Given the description of an element on the screen output the (x, y) to click on. 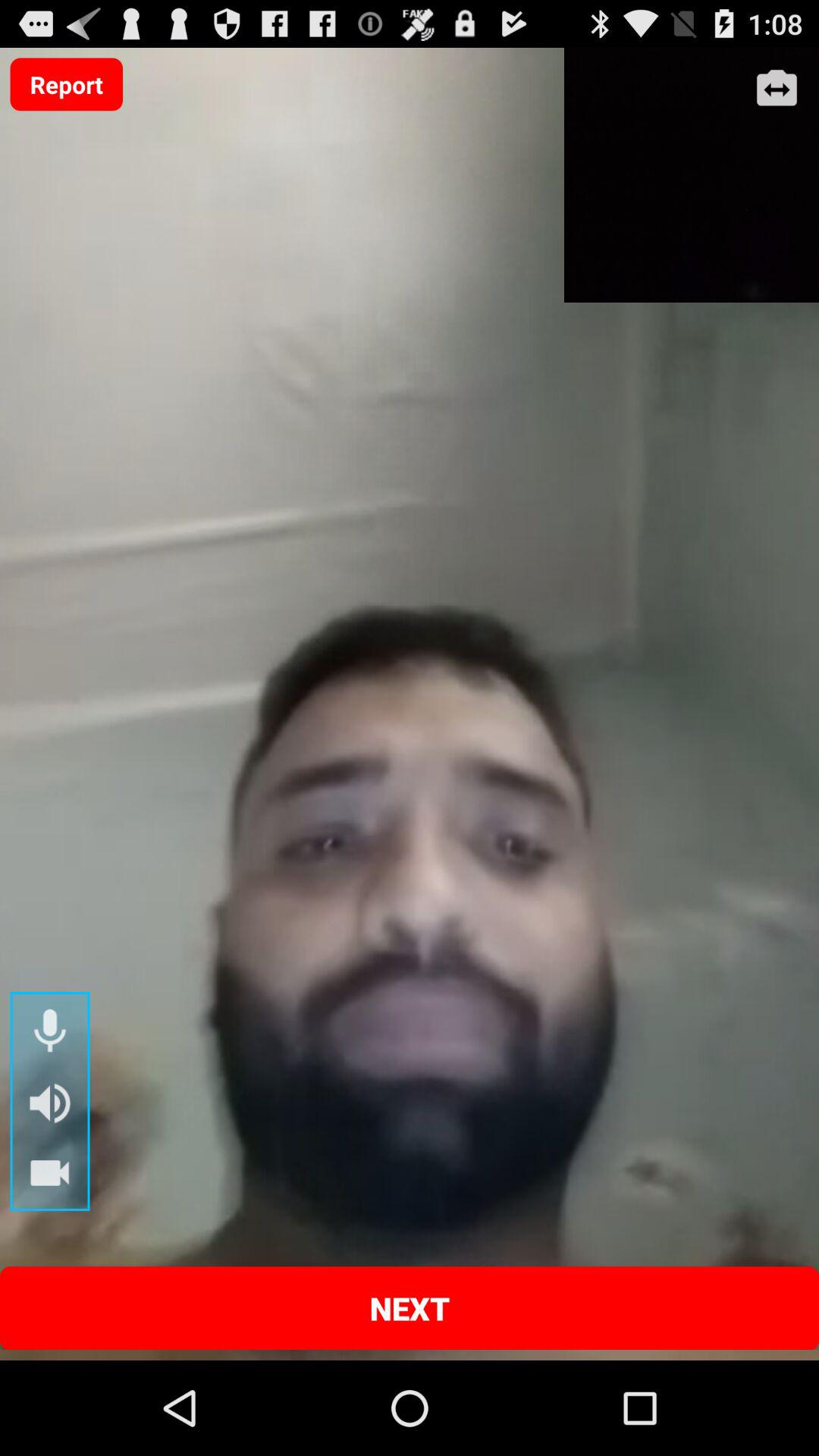
put the microwave on (49, 1031)
